Given the description of an element on the screen output the (x, y) to click on. 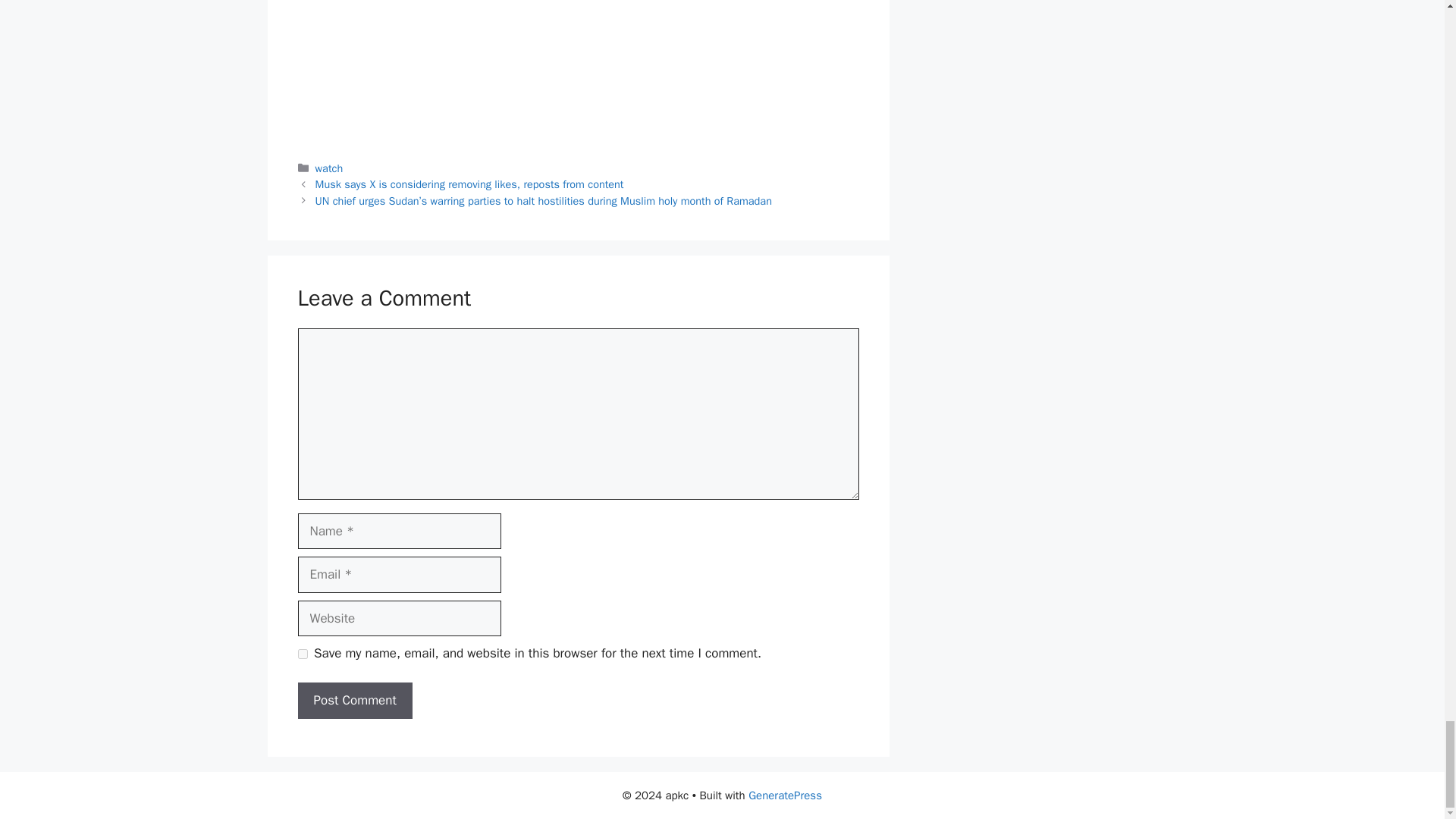
Post Comment (354, 700)
Post Comment (354, 700)
watch (329, 168)
yes (302, 654)
GeneratePress (785, 795)
